Given the description of an element on the screen output the (x, y) to click on. 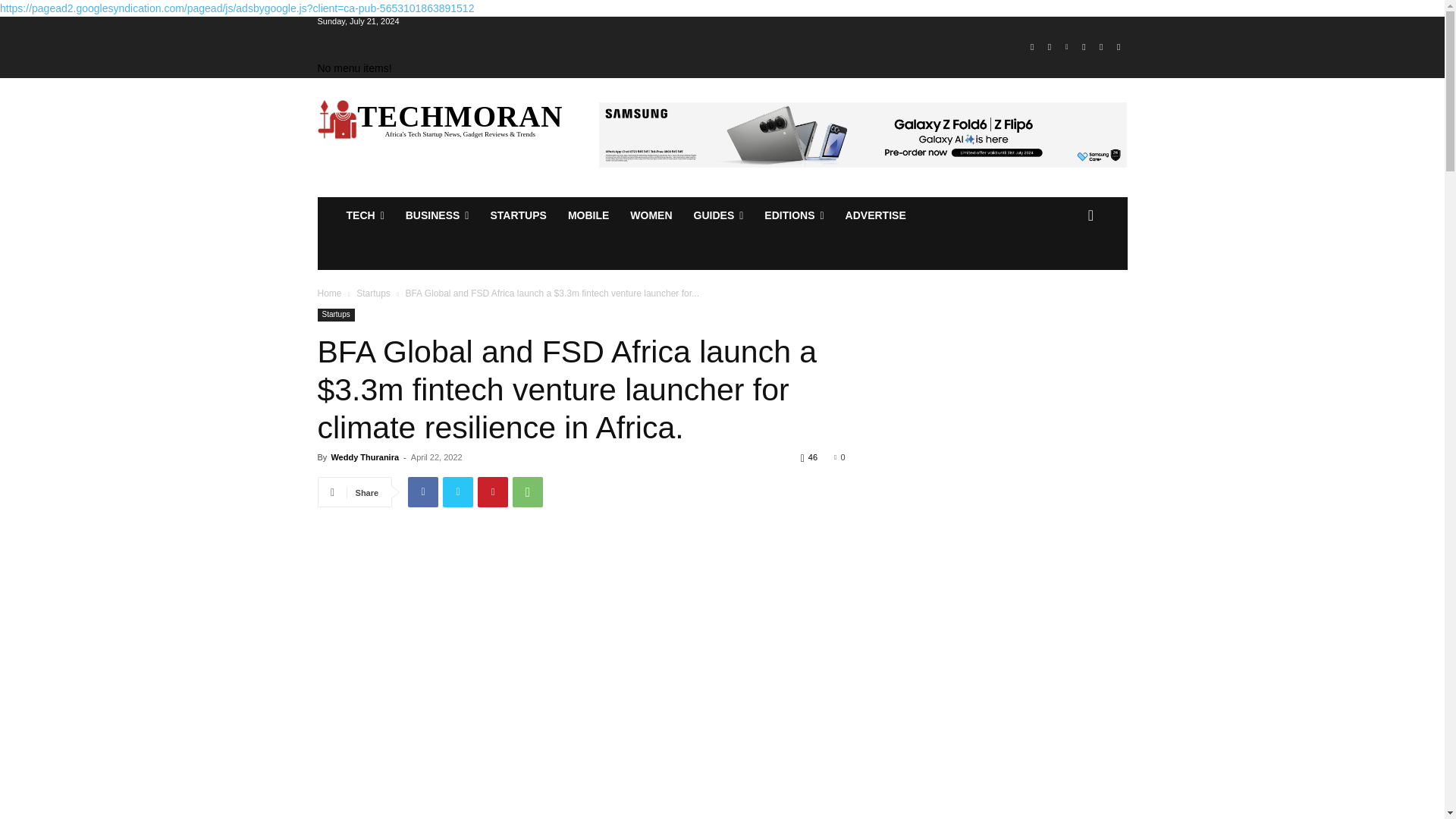
Mobile (588, 215)
Telegram (1084, 47)
MOBILE (588, 215)
Youtube (1117, 47)
WOMEN (651, 215)
Facebook (1032, 47)
TECH (364, 215)
Linkedin (1066, 47)
GUIDES (718, 215)
Twitter (1101, 47)
STARTUPS (517, 215)
View all posts in Startups (373, 293)
BUSINESS (437, 215)
Instagram (1049, 47)
